Given the description of an element on the screen output the (x, y) to click on. 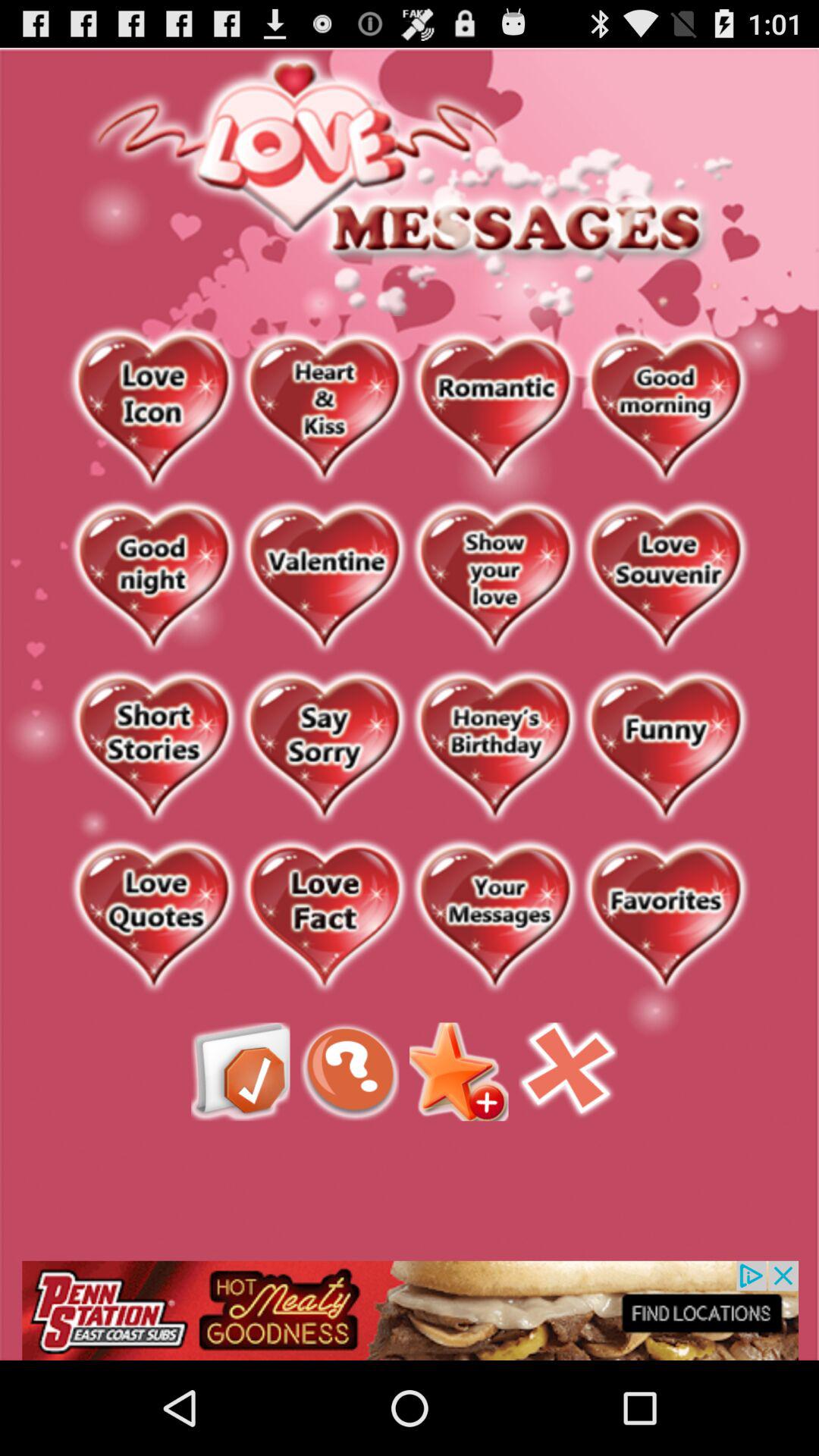
open good night page (153, 578)
